Given the description of an element on the screen output the (x, y) to click on. 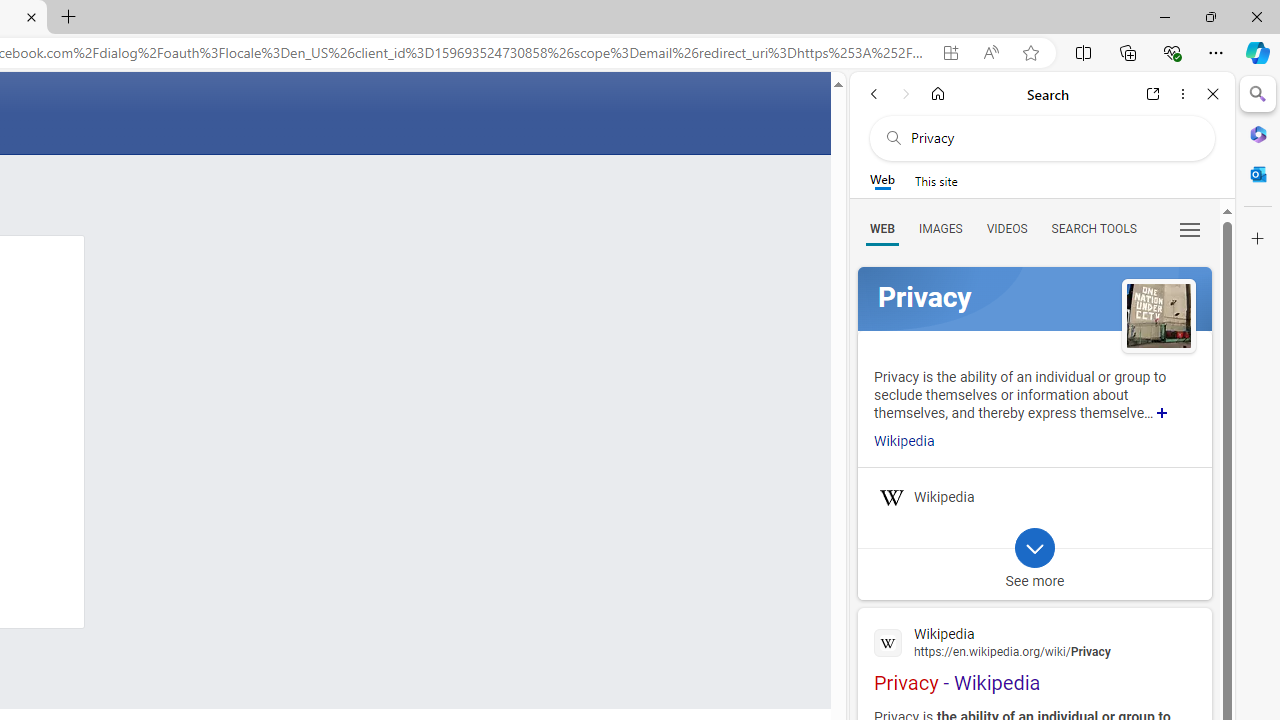
Customize (1258, 239)
Class: spl_logobg (1034, 299)
Microsoft 365 (1258, 133)
Preferences (1189, 228)
See more images of Privacy (1158, 317)
App available. Install Facebook (950, 53)
This site scope (936, 180)
Class: b_exp_chevron_svg b_expmob_chev (1034, 547)
Search Filter, IMAGES (939, 228)
Forward (906, 93)
